Given the description of an element on the screen output the (x, y) to click on. 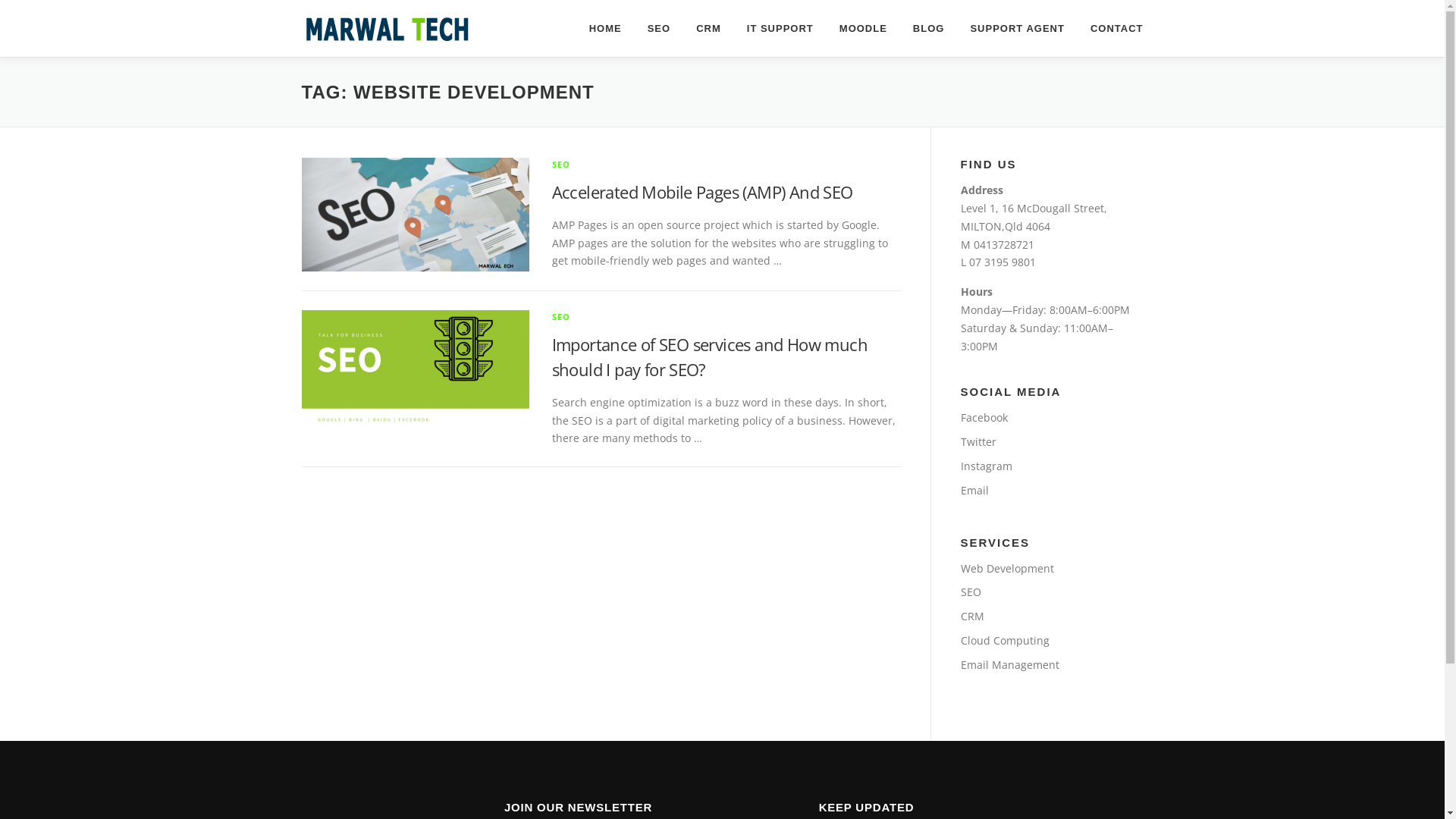
Accelerated Mobile Pages (AMP) And SEO Element type: text (702, 191)
SEO Element type: text (561, 316)
CRM Element type: text (708, 28)
SEO Element type: text (561, 163)
BLOG Element type: text (928, 28)
Email Element type: text (974, 490)
Cloud Computing Element type: text (1004, 640)
HOME Element type: text (605, 28)
Email Management Element type: text (1009, 664)
MOODLE Element type: text (863, 28)
SEO Element type: text (970, 591)
SUPPORT AGENT Element type: text (1016, 28)
CRM Element type: text (971, 615)
SEO Element type: text (658, 28)
CONTACT Element type: text (1110, 28)
Web Development Element type: text (1006, 568)
Facebook Element type: text (983, 417)
Twitter Element type: text (977, 441)
IT SUPPORT Element type: text (780, 28)
Instagram Element type: text (985, 465)
